Given the description of an element on the screen output the (x, y) to click on. 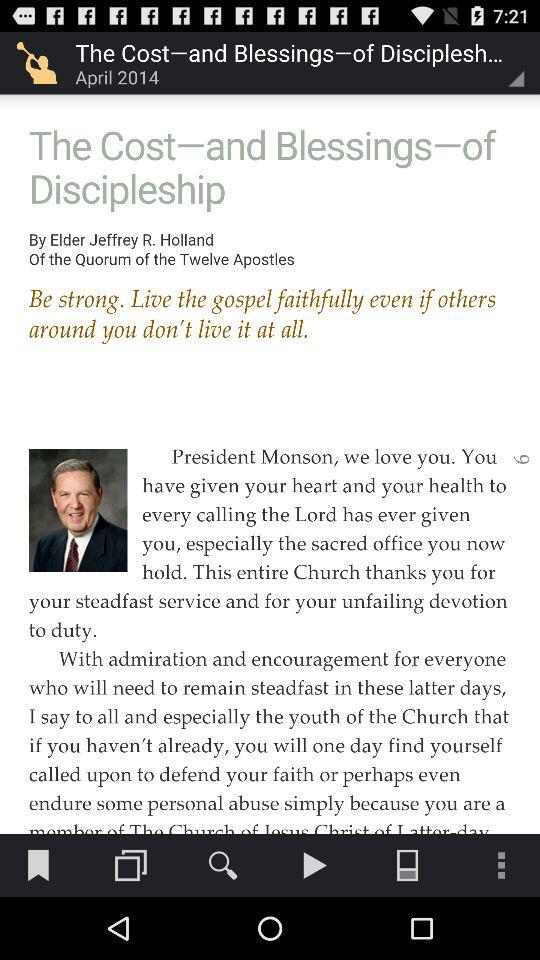
full display (269, 416)
